Given the description of an element on the screen output the (x, y) to click on. 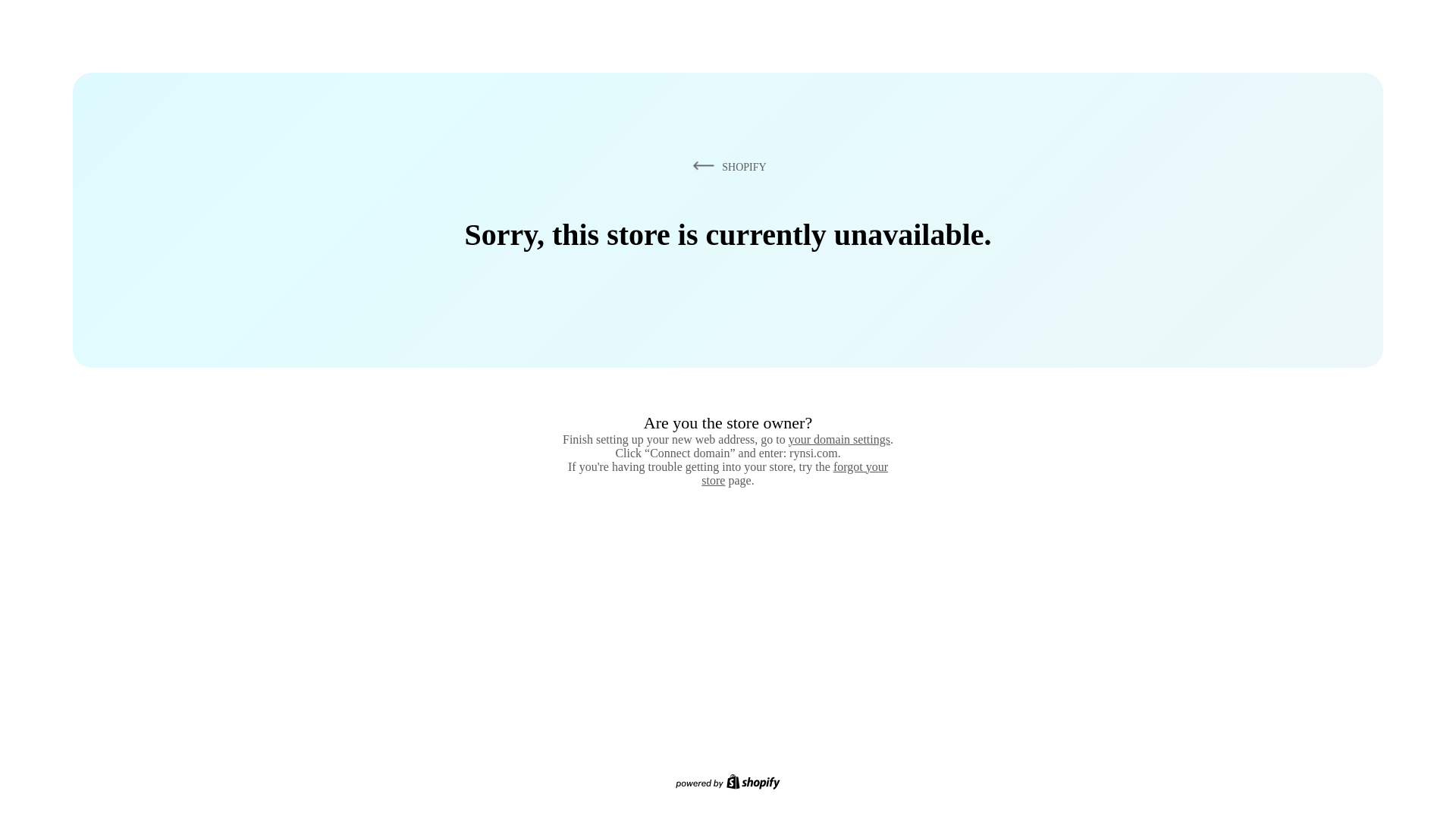
your domain settings (839, 439)
forgot your store (794, 473)
SHOPIFY (726, 166)
